Given the description of an element on the screen output the (x, y) to click on. 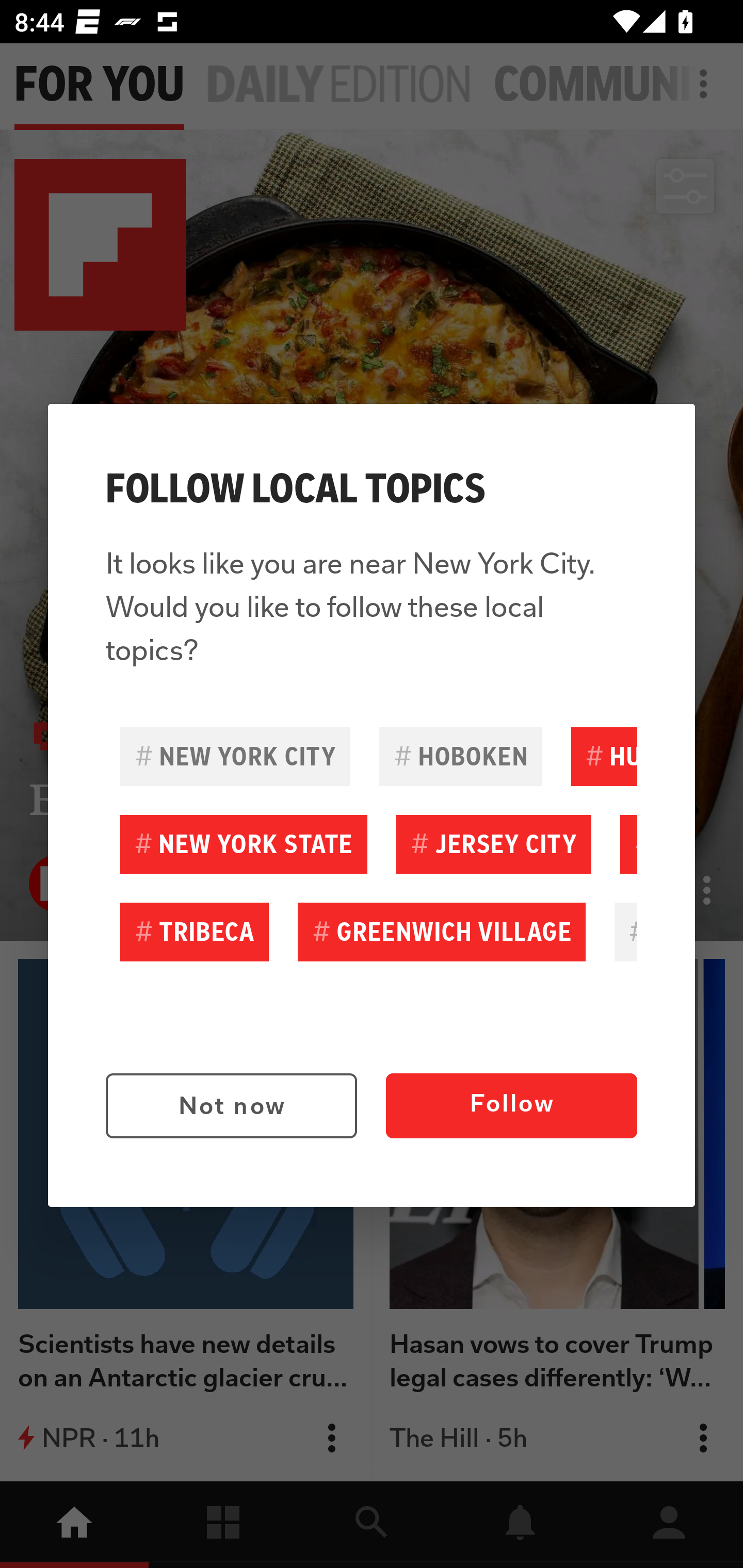
# NEW YORK CITY (235, 756)
# HOBOKEN (460, 756)
# NEW YORK STATE (243, 844)
# JERSEY CITY (493, 844)
# TRIBECA (194, 932)
# GREENWICH VILLAGE (441, 932)
Not now (231, 1106)
Follow (511, 1106)
